Given the description of an element on the screen output the (x, y) to click on. 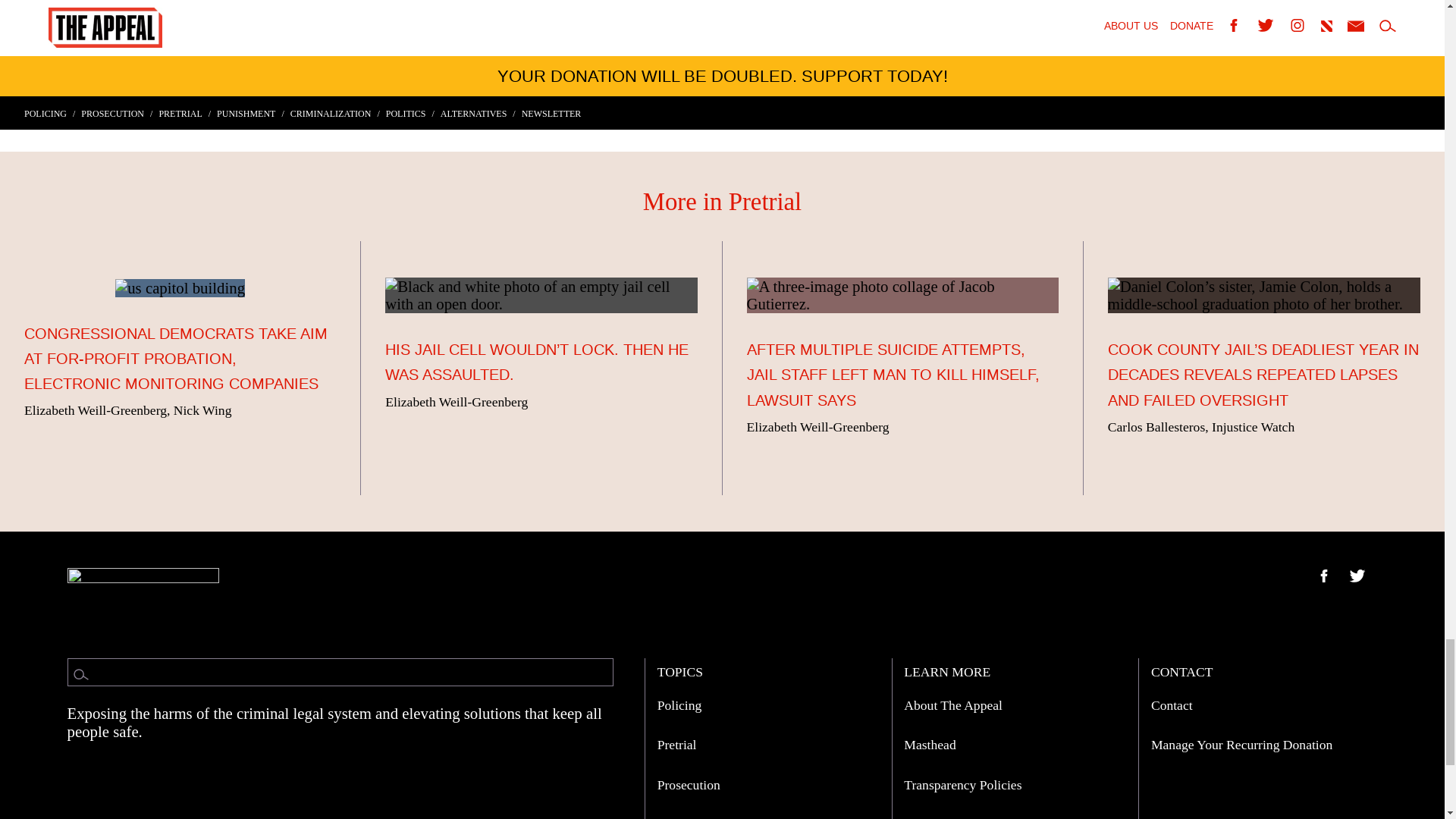
Prosecution (689, 784)
Pretrial (677, 744)
Policing (679, 704)
